Given the description of an element on the screen output the (x, y) to click on. 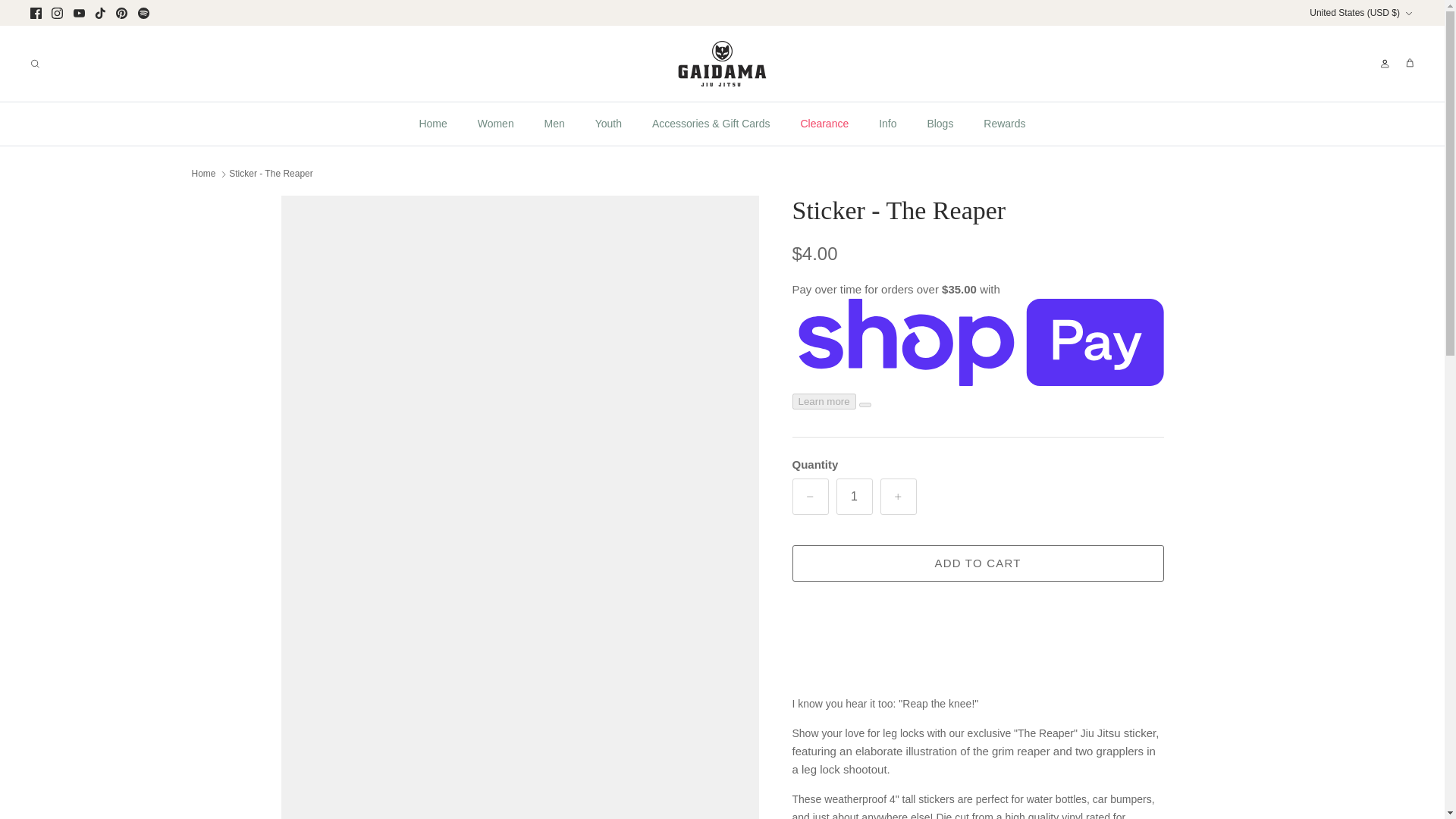
Down (1408, 13)
Facebook (36, 12)
Pinterest (122, 12)
Pinterest (122, 12)
Facebook (36, 12)
GAIDAMA (721, 63)
Instagram (56, 12)
1 (853, 496)
Youtube (79, 12)
Youtube (79, 12)
Instagram (56, 12)
